Given the description of an element on the screen output the (x, y) to click on. 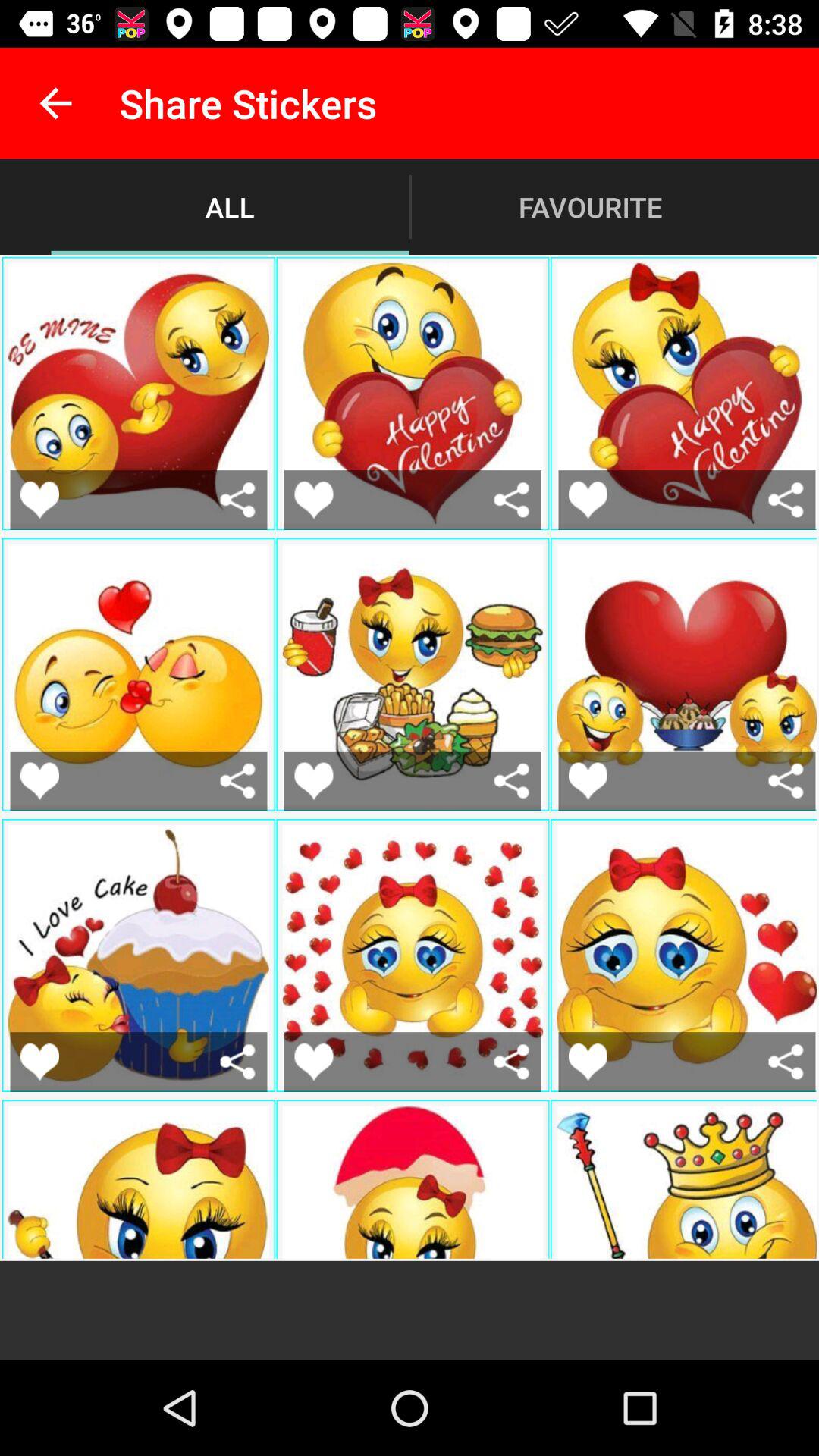
choose favorite sticker (39, 780)
